Given the description of an element on the screen output the (x, y) to click on. 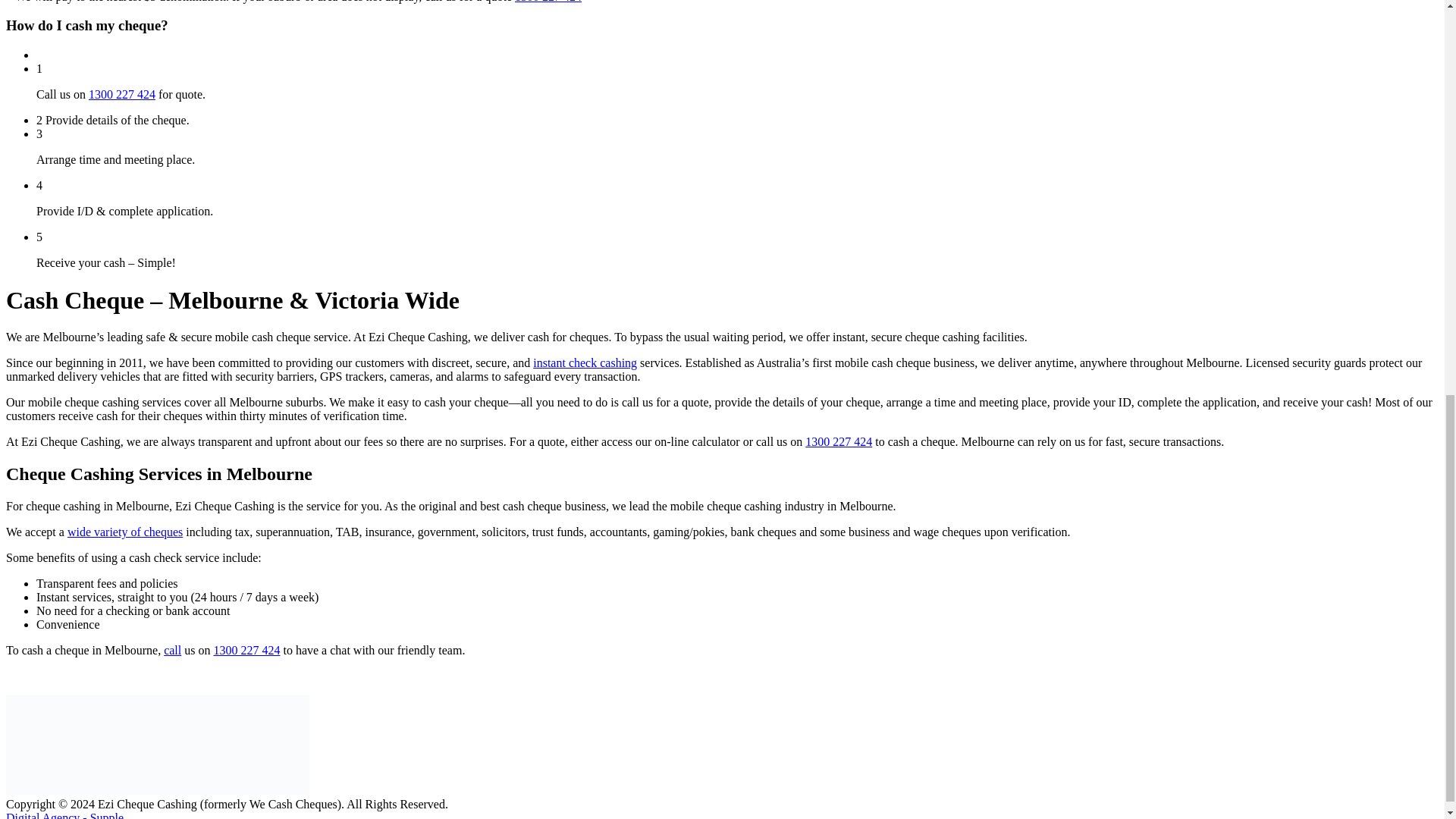
1300 227 424 (121, 93)
1300 227 424 (838, 440)
1300 227 424 (245, 649)
1300 227 424 (547, 1)
wide variety of cheques (124, 531)
instant check cashing (584, 362)
call (171, 649)
